Given the description of an element on the screen output the (x, y) to click on. 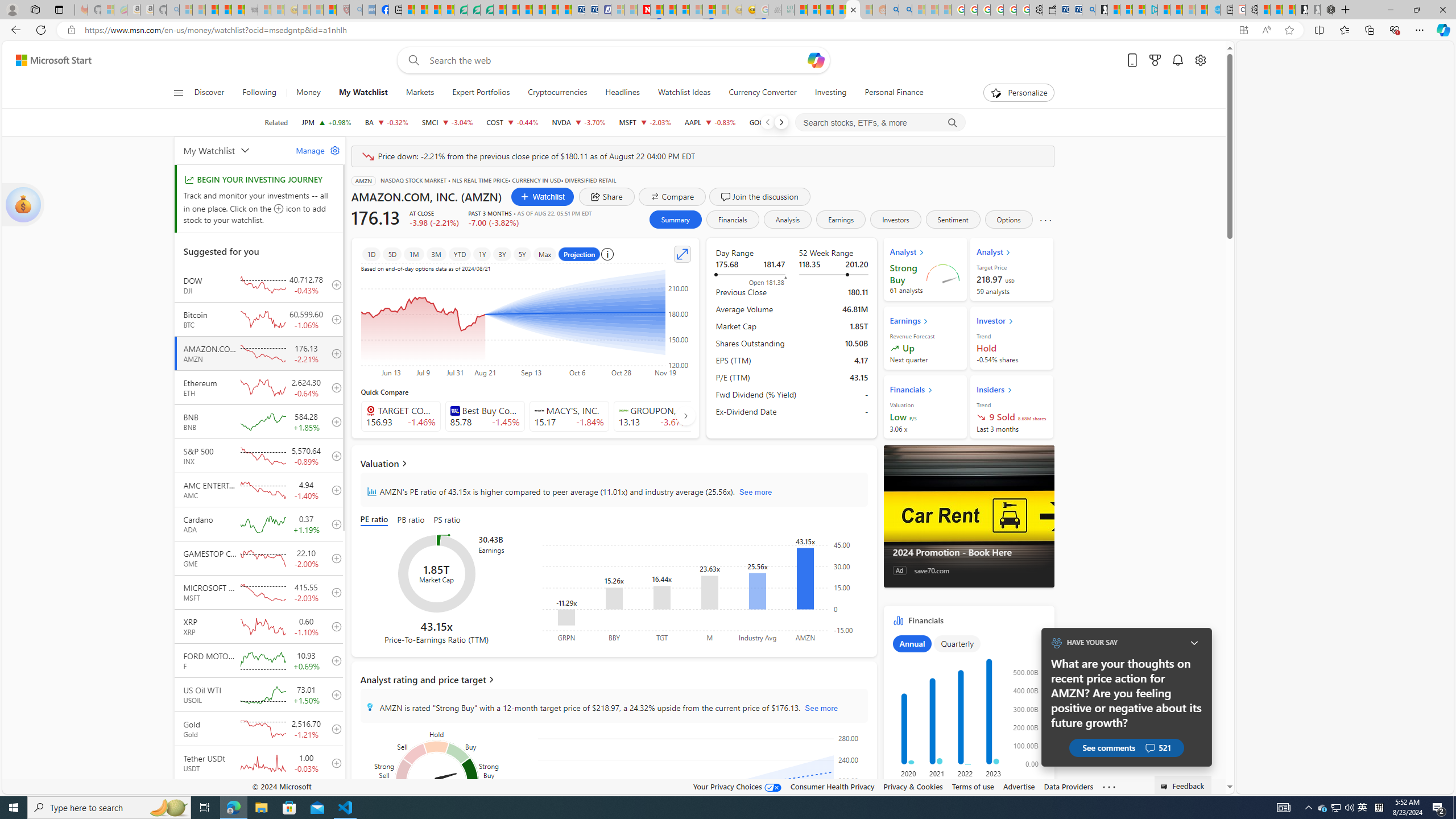
App available. Install Start Money (1243, 29)
Class: oneFooter_seeMore-DS-EntryPoint1-1 (1108, 786)
Cheap Hotels - Save70.com (590, 9)
PS ratio (447, 520)
YTD (459, 254)
5Y (521, 254)
Max (544, 254)
